Given the description of an element on the screen output the (x, y) to click on. 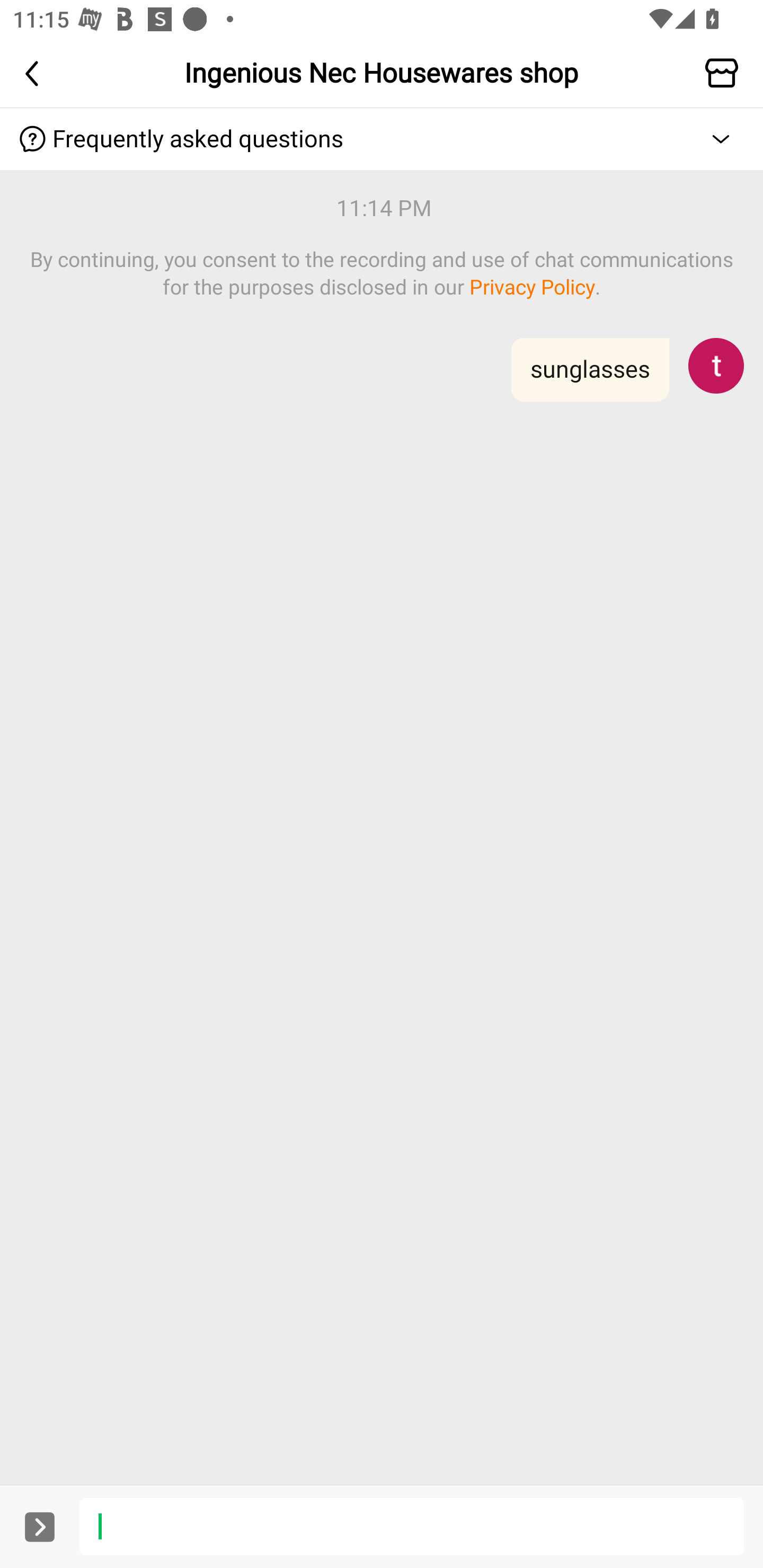
 back (36, 72)
 enter the merchant store (726, 72)
Pull down button  Frequently asked questions (381, 138)
sunglasses (381, 380)
 Expand more functions button (39, 1526)
